Given the description of an element on the screen output the (x, y) to click on. 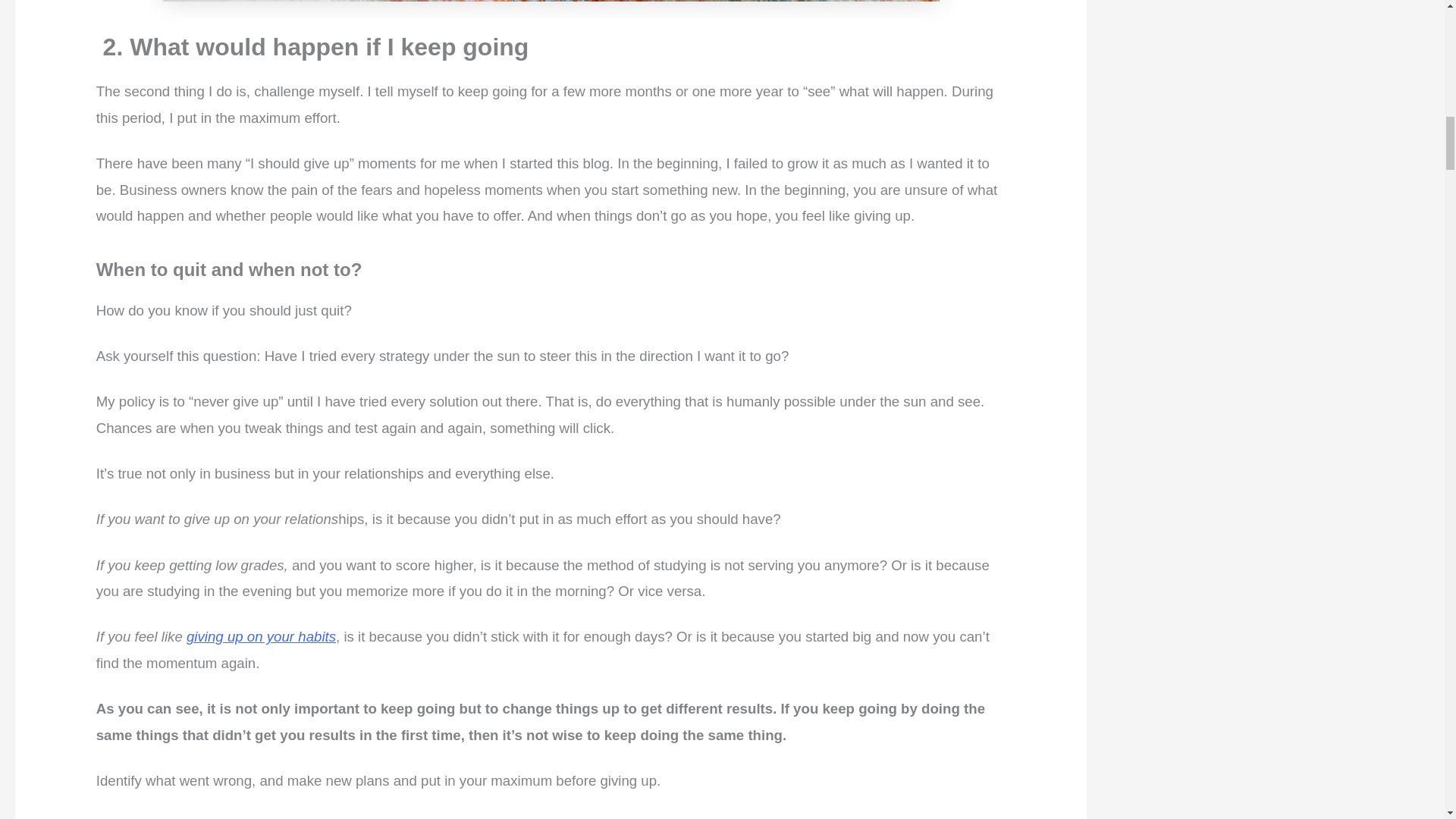
giving up on your habits (261, 636)
